Given the description of an element on the screen output the (x, y) to click on. 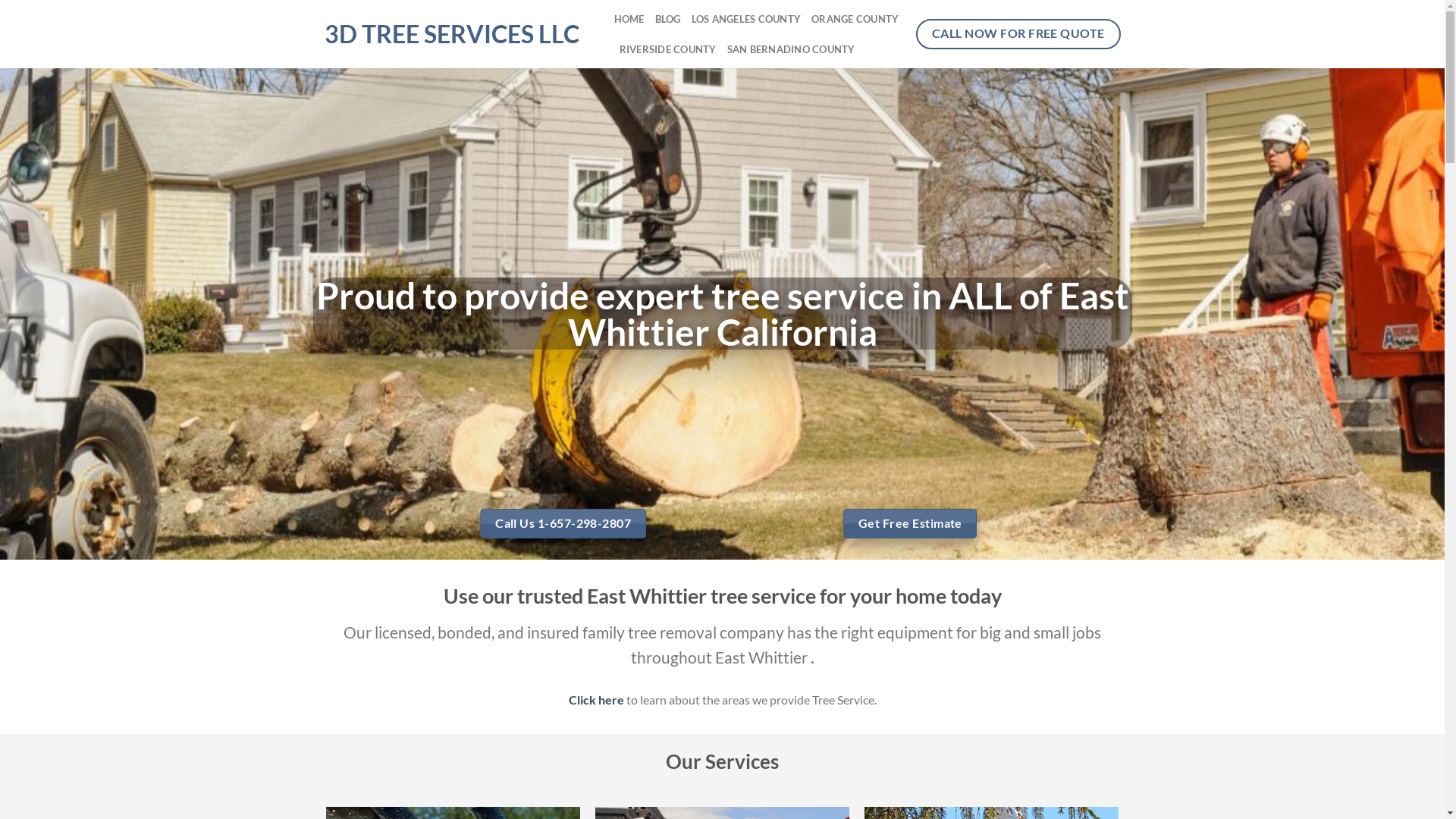
ORANGE COUNTY Element type: text (854, 18)
3D TREE SERVICES LLC Element type: text (457, 33)
LOS ANGELES COUNTY Element type: text (746, 18)
HOME Element type: text (629, 18)
Get Free Estimate Element type: text (909, 523)
RIVERSIDE COUNTY Element type: text (666, 49)
Call Us 1-657-298-2807 Element type: text (562, 523)
Click here Element type: text (596, 699)
CALL NOW FOR FREE QUOTE Element type: text (1018, 33)
SAN BERNADINO COUNTY Element type: text (791, 49)
BLOG Element type: text (667, 18)
